Given the description of an element on the screen output the (x, y) to click on. 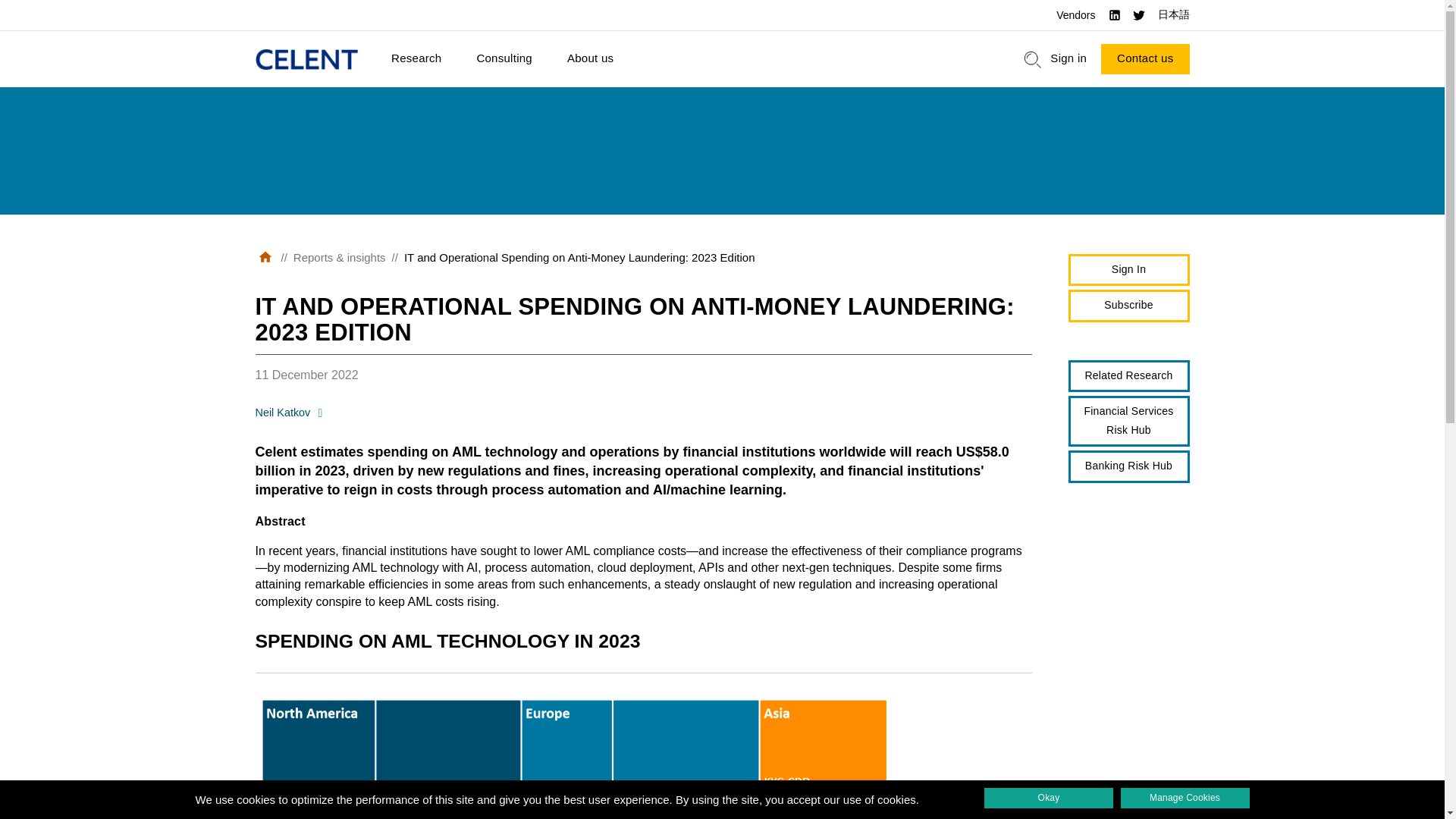
Sign in (1068, 59)
Home (306, 59)
Manage Cookies (1185, 797)
Okay (1048, 797)
search (1032, 58)
Research (415, 59)
Consulting (503, 59)
About us (590, 59)
Contact us (1144, 59)
Vendors (1075, 15)
